Given the description of an element on the screen output the (x, y) to click on. 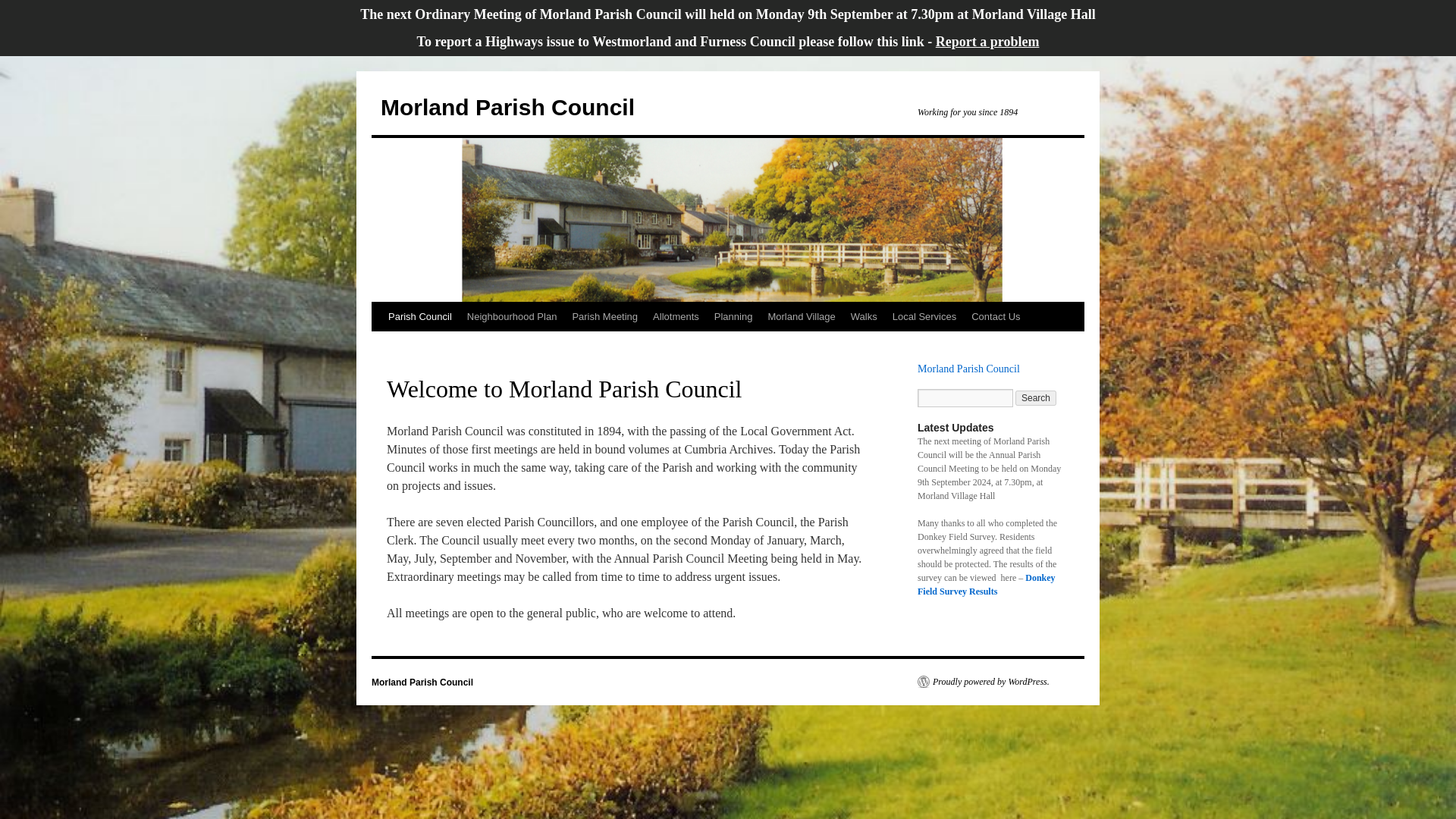
Parish Council (420, 316)
Skip to content (378, 345)
Parish Meeting (604, 316)
Walks (864, 316)
Morland Parish Council (422, 682)
Search (1035, 397)
Local Services (924, 316)
Morland Parish Council (507, 107)
Planning (733, 316)
Report a problem (987, 41)
Donkey Field Survey Results (986, 584)
Contact Us (995, 316)
Morland Parish Council (970, 368)
Morland (936, 368)
Morland Village (801, 316)
